Given the description of an element on the screen output the (x, y) to click on. 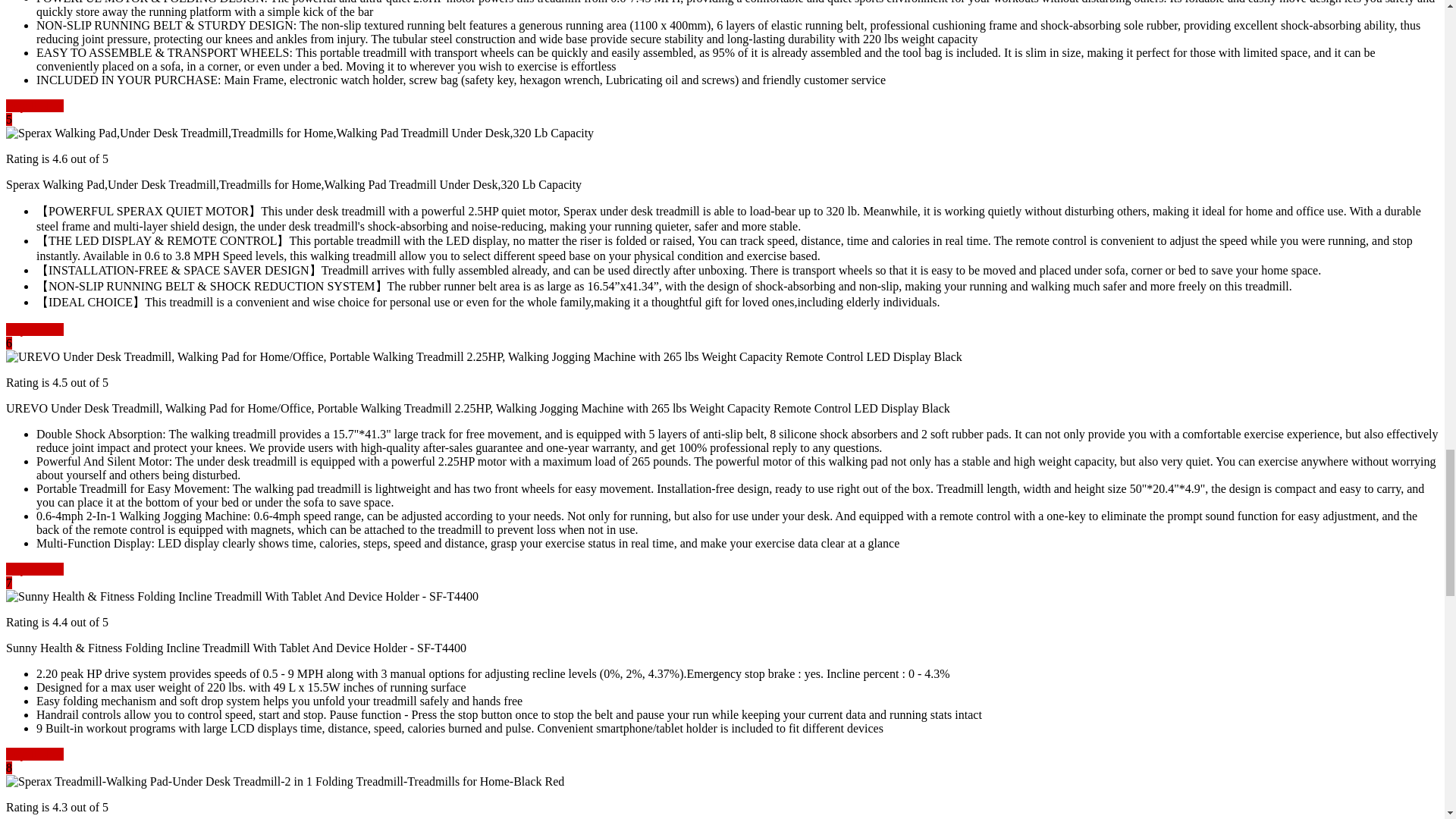
Buy It Now (34, 105)
Buy It Now (34, 753)
Buy It Now (34, 328)
Buy It Now (34, 568)
